Given the description of an element on the screen output the (x, y) to click on. 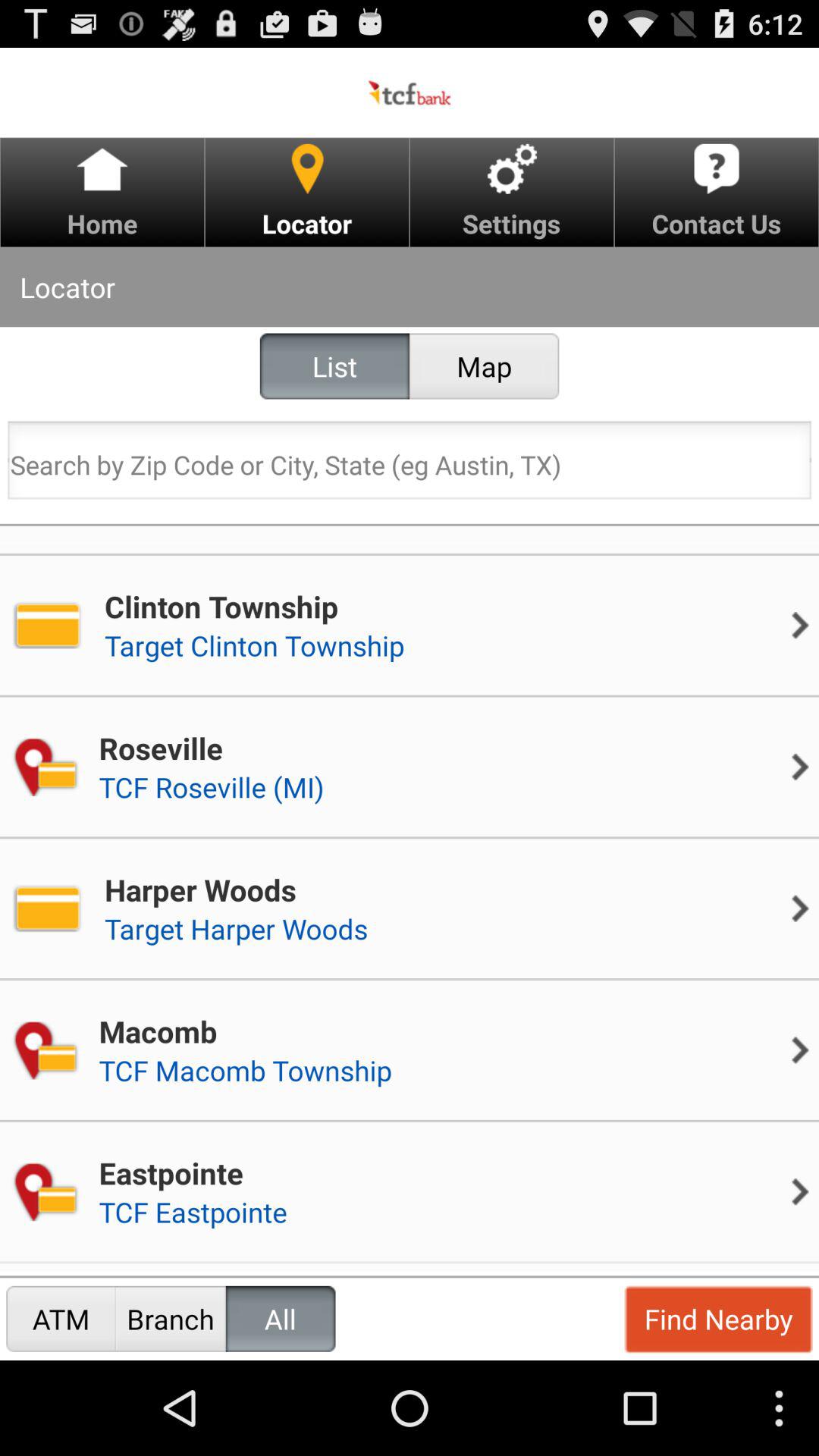
choose the item next to the branch icon (280, 1318)
